Given the description of an element on the screen output the (x, y) to click on. 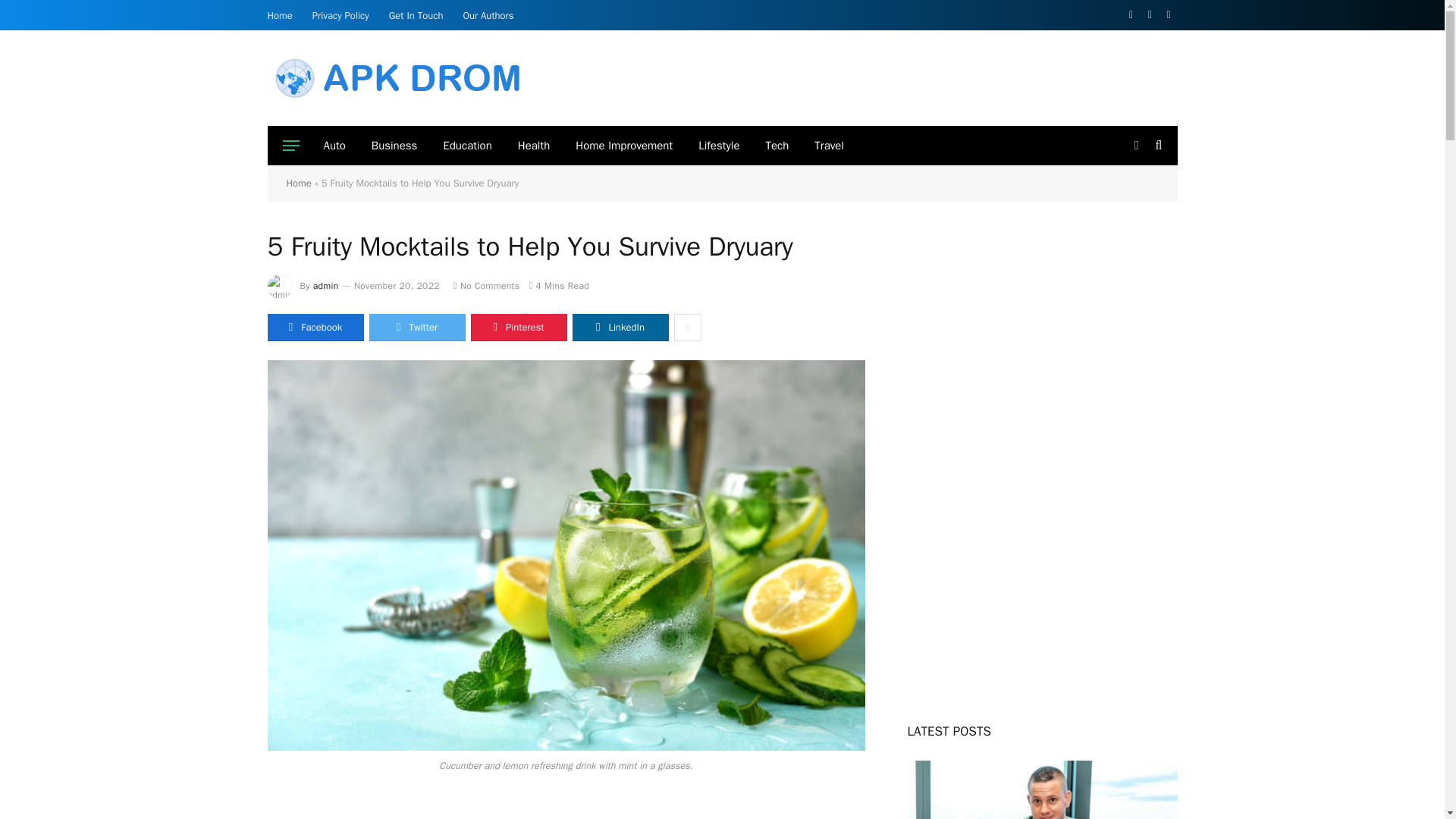
Share on Facebook (314, 327)
Share on LinkedIn (620, 327)
No Comments (485, 285)
Lifestyle (718, 145)
Privacy Policy (340, 15)
Advertisement (900, 75)
Posts by admin (326, 285)
Get In Touch (415, 15)
Home (279, 15)
Switch to Dark Design - easier on eyes. (1135, 145)
